Given the description of an element on the screen output the (x, y) to click on. 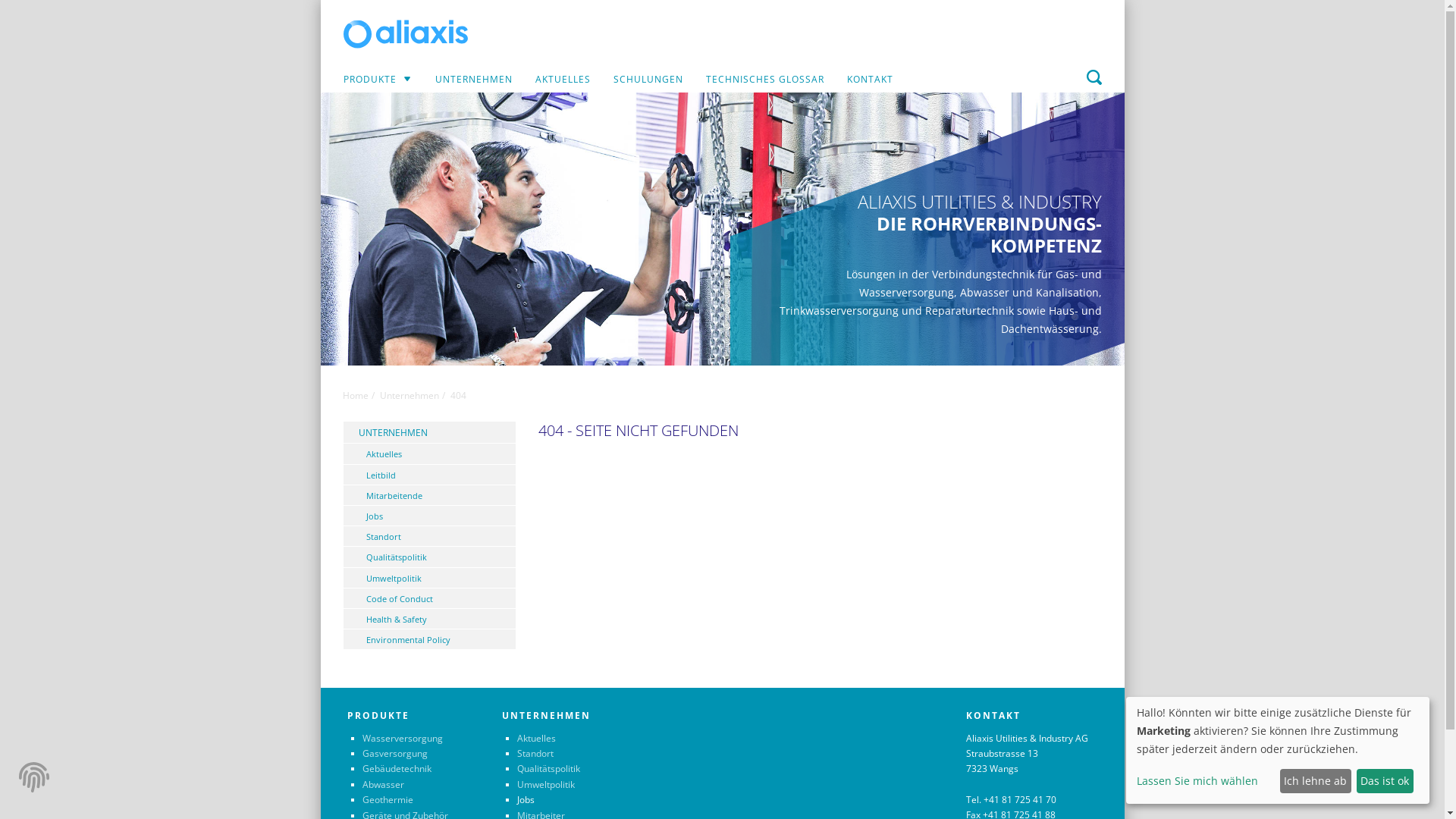
Standort Element type: text (428, 536)
Ich lehne ab Element type: text (1315, 780)
Standort Element type: text (535, 752)
UNTERNEHMEN Element type: text (473, 78)
Unternehmen Element type: text (408, 395)
UNTERNEHMEN Element type: text (428, 432)
Aktuelles Element type: text (428, 453)
SCHULUNGEN Element type: text (648, 78)
404 Element type: text (458, 395)
Code of Conduct Element type: text (428, 598)
Mitarbeitende Element type: text (428, 495)
Geothermie Element type: text (387, 799)
PRODUKTE Element type: text (376, 78)
Health & Safety Element type: text (428, 618)
Home Element type: text (355, 395)
Gasversorgung Element type: text (394, 752)
Leitbild Element type: text (428, 474)
Wasserversorgung Element type: text (402, 737)
Umweltpolitik Element type: text (545, 784)
KONTAKT Element type: text (869, 78)
Environmental Policy Element type: text (428, 639)
Umweltpolitik Element type: text (428, 577)
Abwasser Element type: text (383, 784)
Show search box Element type: text (1093, 77)
AKTUELLES Element type: text (562, 78)
Jobs Element type: text (428, 515)
Aktuelles Element type: text (536, 737)
TECHNISCHES GLOSSAR Element type: text (764, 78)
Das ist ok Element type: text (1384, 780)
